Given the description of an element on the screen output the (x, y) to click on. 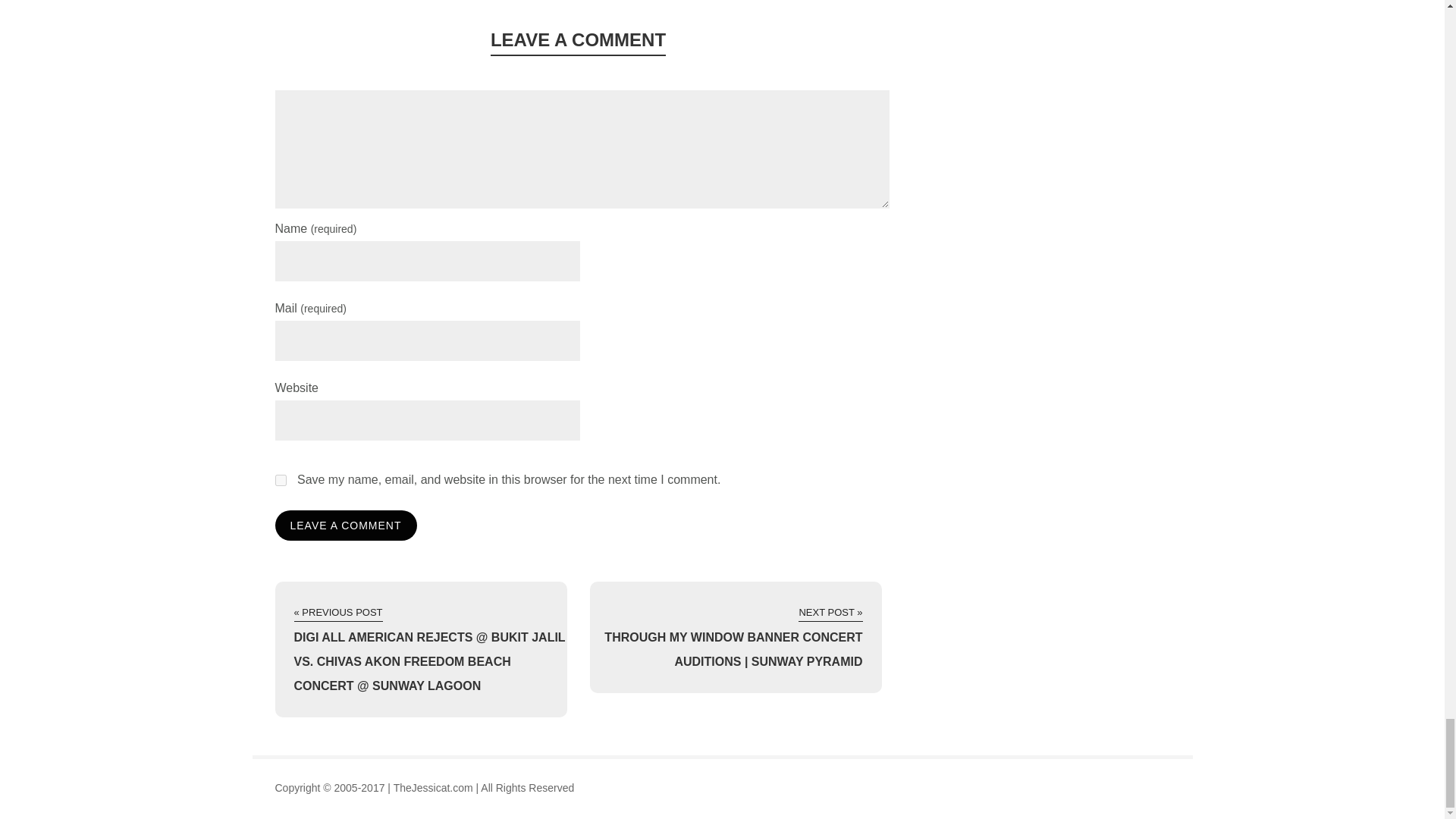
yes (280, 480)
Leave a Comment (345, 525)
